Given the description of an element on the screen output the (x, y) to click on. 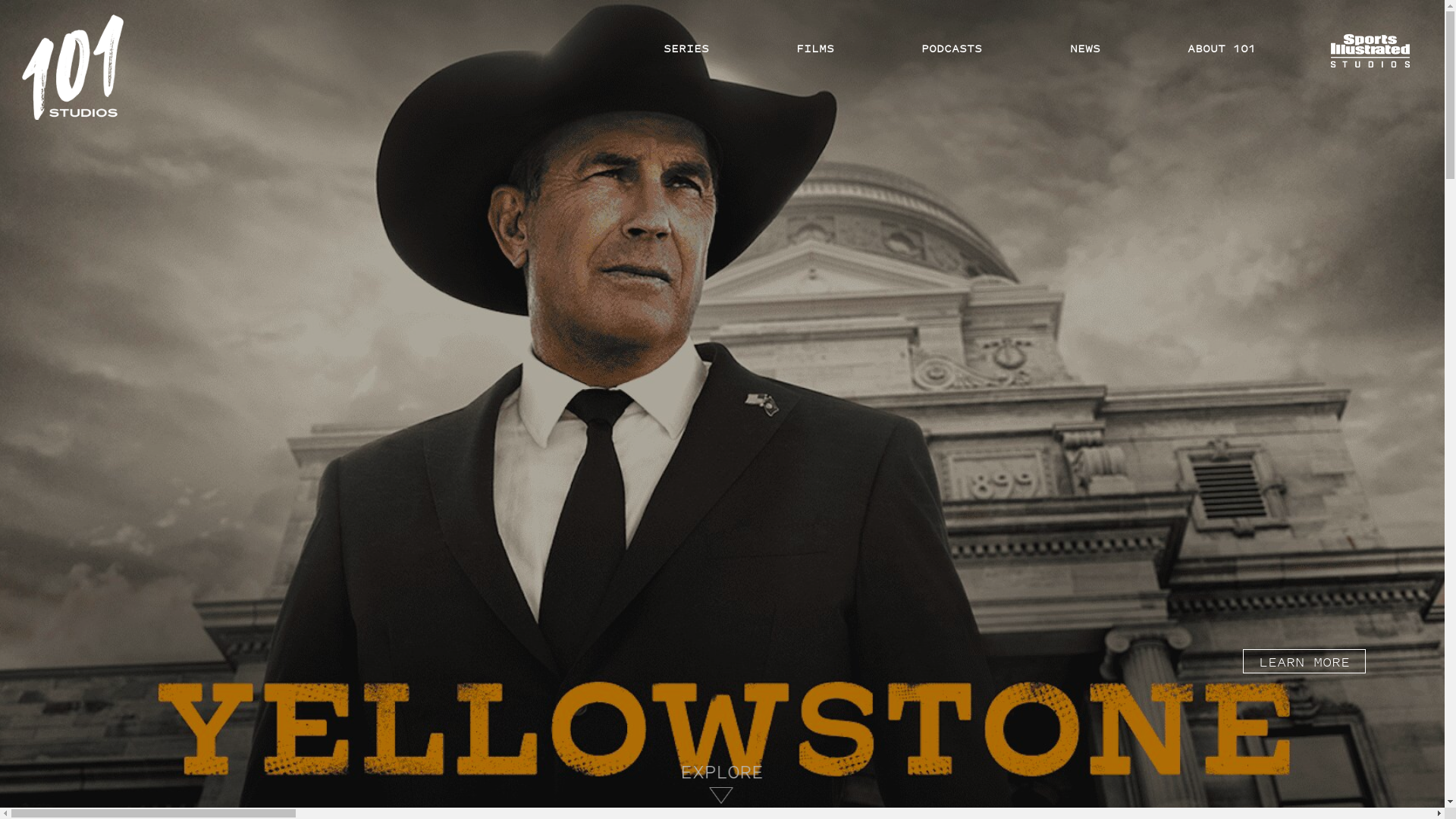
LEARN MORE Element type: text (1303, 661)
SERIES Element type: text (686, 48)
FILMS Element type: text (815, 48)
NEWS Element type: text (1084, 48)
ABOUT 101 Element type: text (1221, 48)
PODCASTS Element type: text (951, 48)
